Given the description of an element on the screen output the (x, y) to click on. 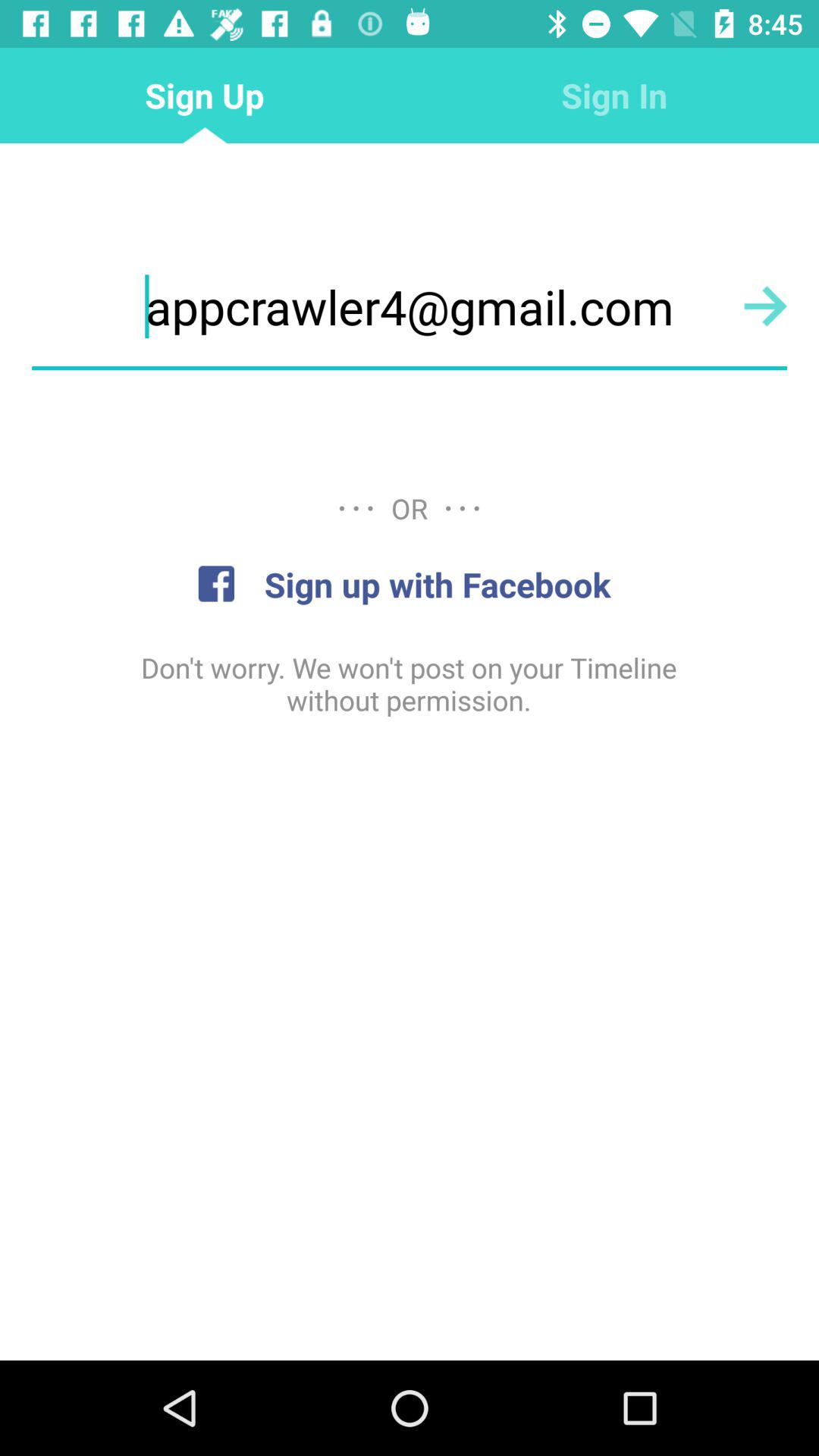
jump until appcrawler4@gmail.com icon (409, 306)
